Given the description of an element on the screen output the (x, y) to click on. 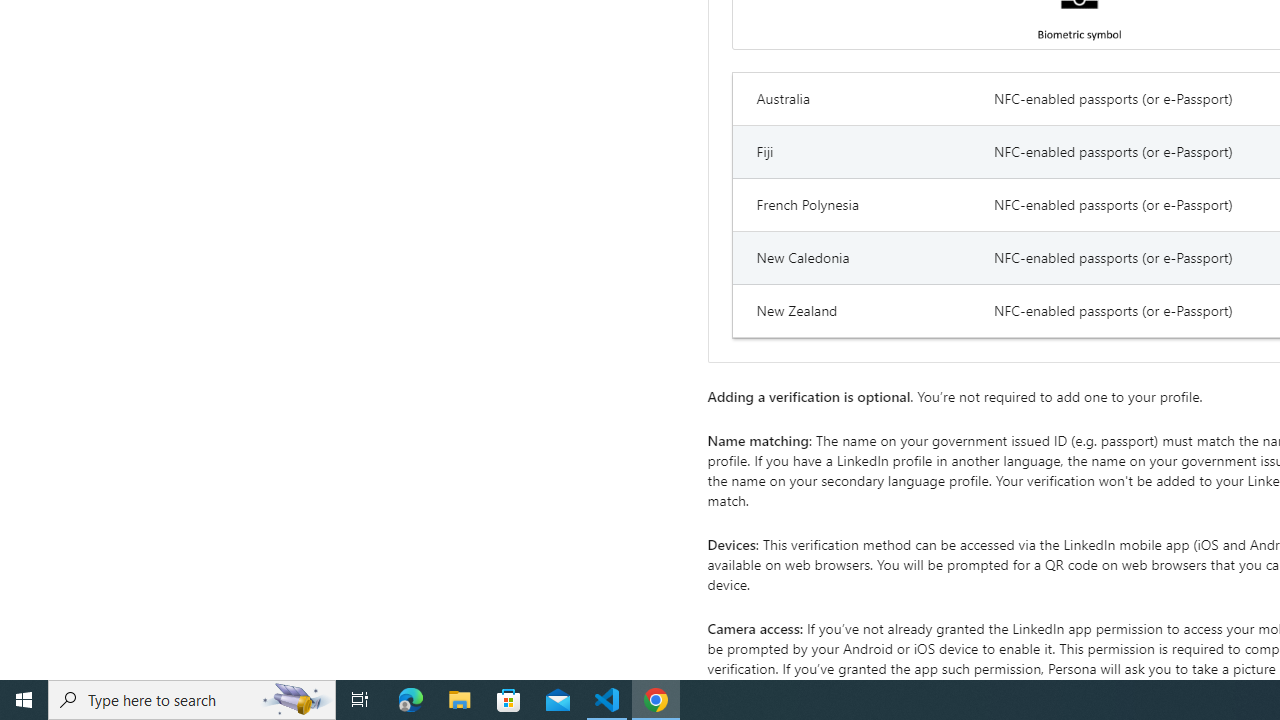
here (1211, 688)
